Given the description of an element on the screen output the (x, y) to click on. 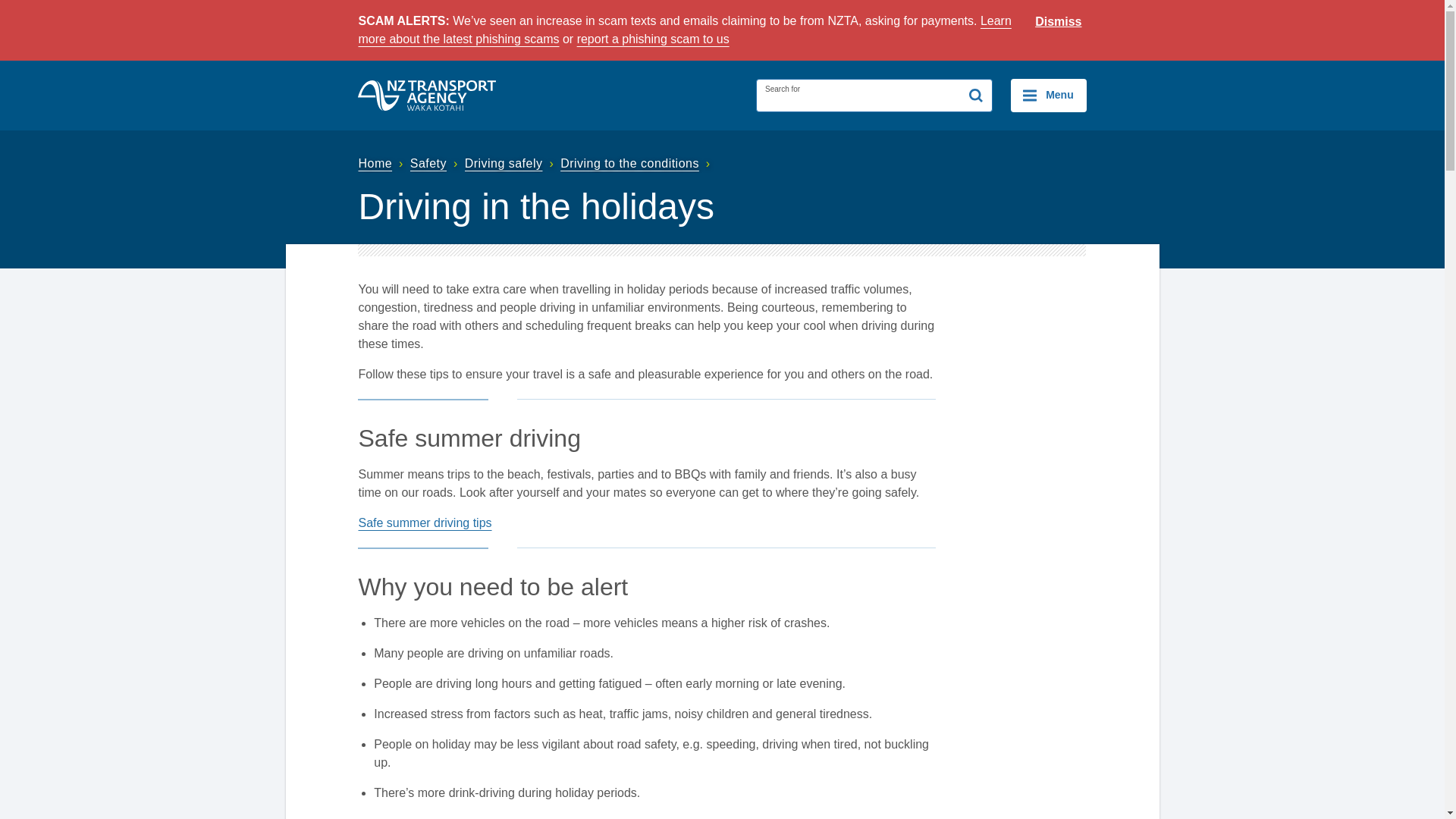
Driving safely (510, 163)
Home (382, 163)
Safety (435, 163)
report a phishing scam to us (652, 38)
Dismiss (1058, 21)
Menu (1048, 95)
Learn more about the latest phishing scams (684, 29)
NZ Transport Agency Waka Kotahi (427, 95)
